Given the description of an element on the screen output the (x, y) to click on. 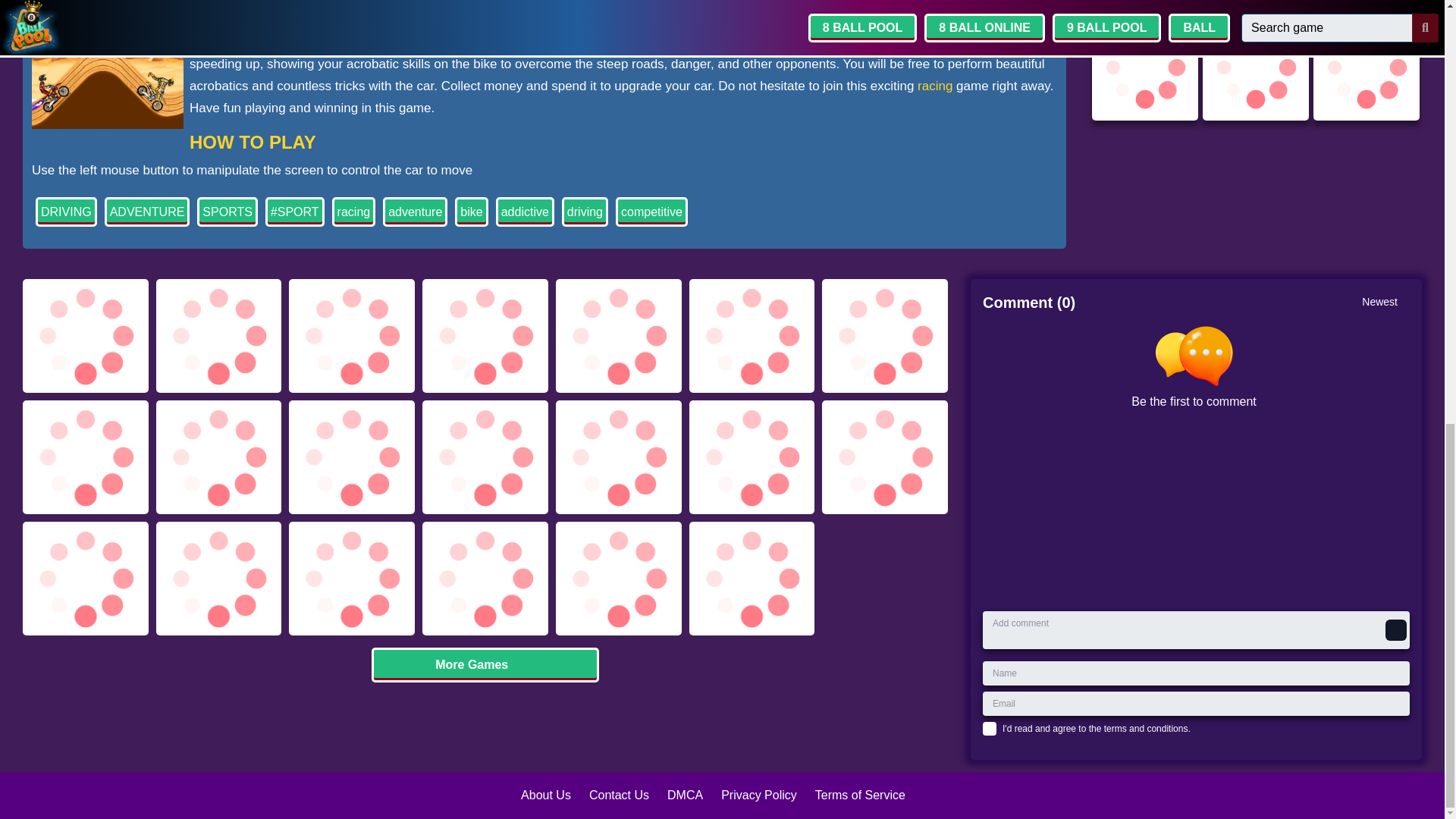
Be the first to comment (1199, 461)
bike (470, 211)
racing (353, 211)
competitive (651, 211)
bike (372, 20)
DRIVING (65, 211)
ADVENTURE (147, 211)
adventure (414, 211)
addictive (525, 211)
driving (585, 211)
racing (934, 85)
SPORTS (226, 211)
